Given the description of an element on the screen output the (x, y) to click on. 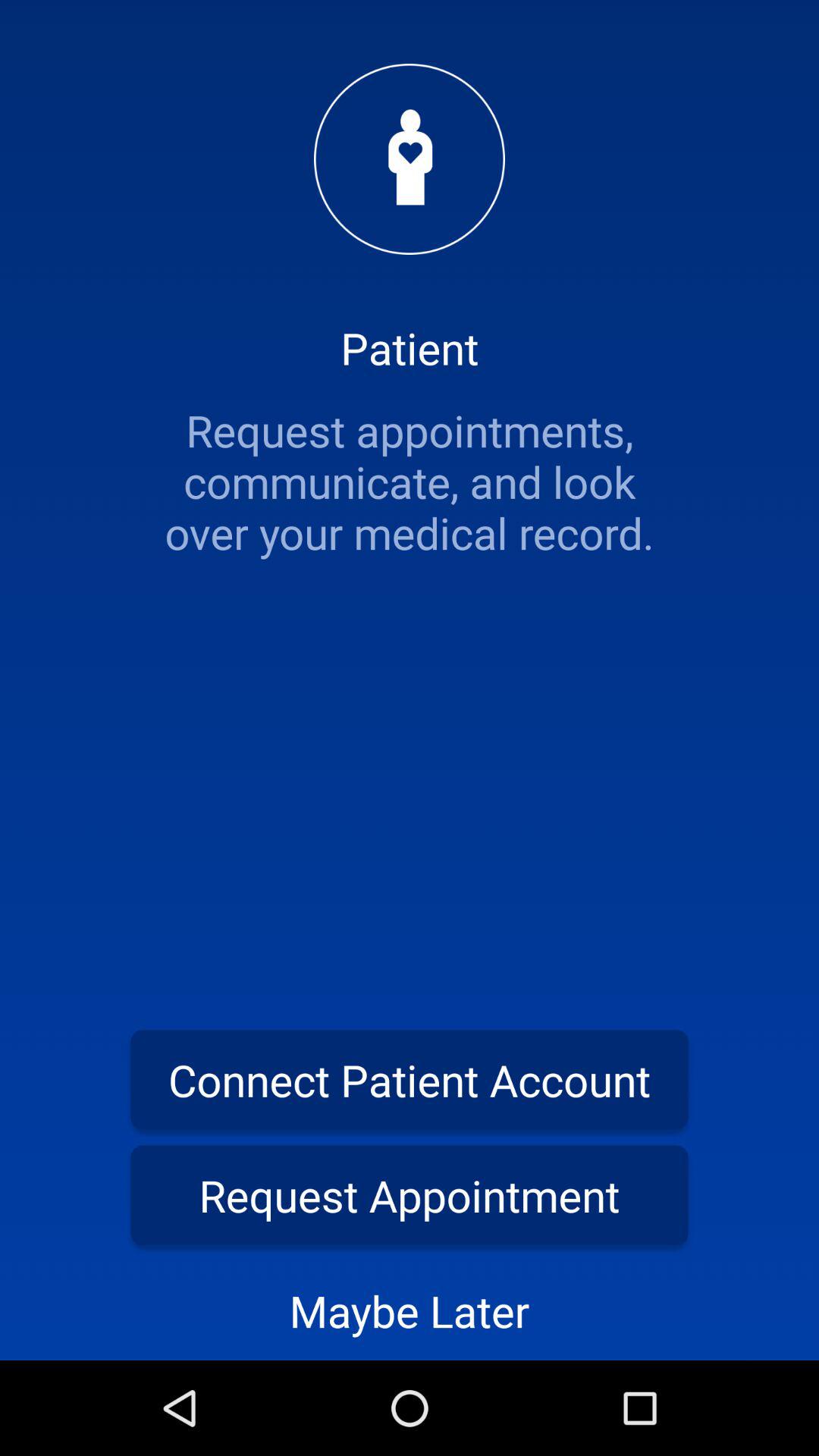
turn off the request appointment (409, 1194)
